Given the description of an element on the screen output the (x, y) to click on. 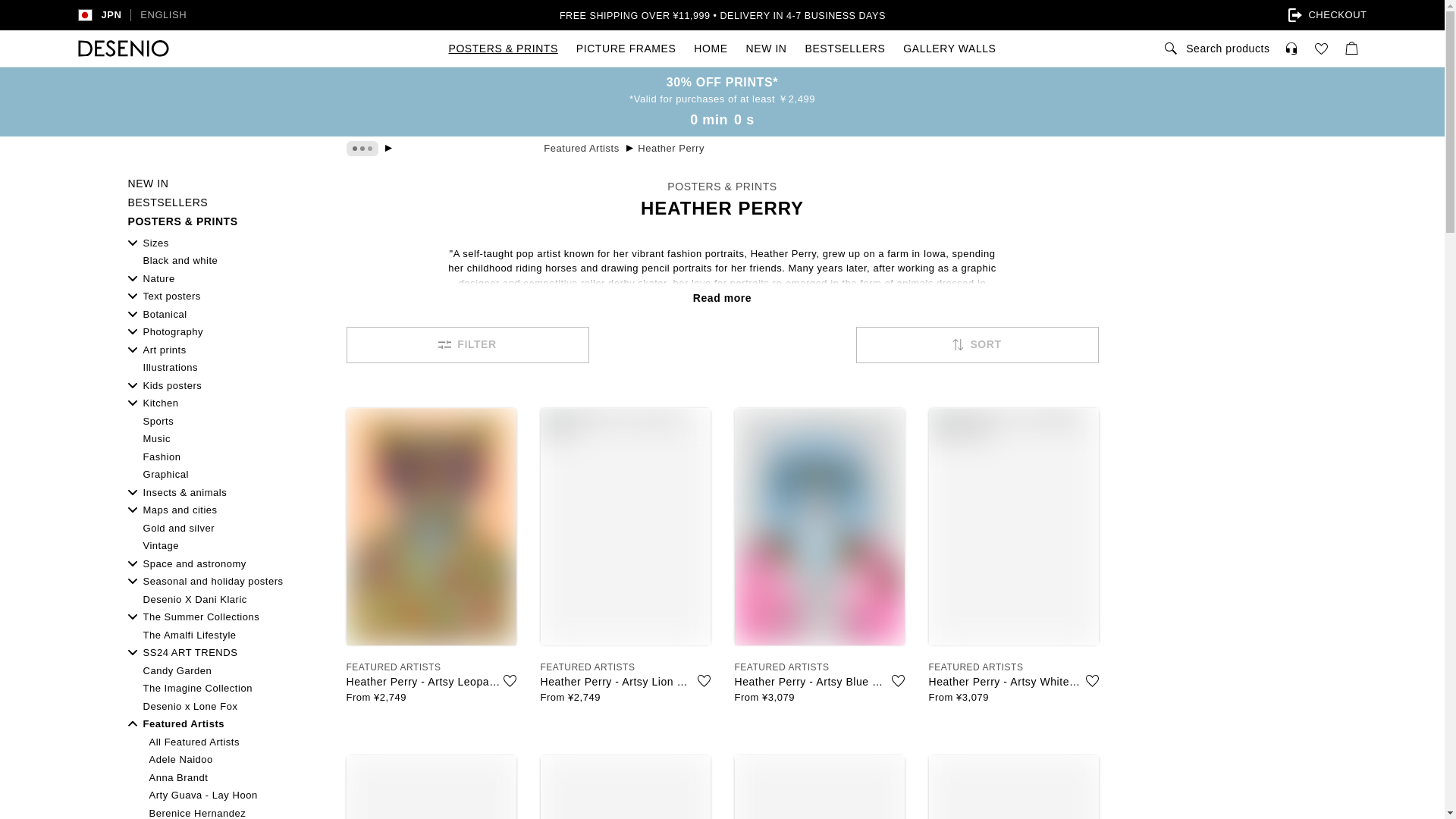
Kids posters (224, 385)
Photography (224, 331)
Fashion (224, 456)
Illustrations (224, 367)
PICTURE FRAMES (626, 48)
NEW IN (224, 183)
Art prints (224, 350)
Black and white (224, 260)
Gold and silver (224, 527)
